Given the description of an element on the screen output the (x, y) to click on. 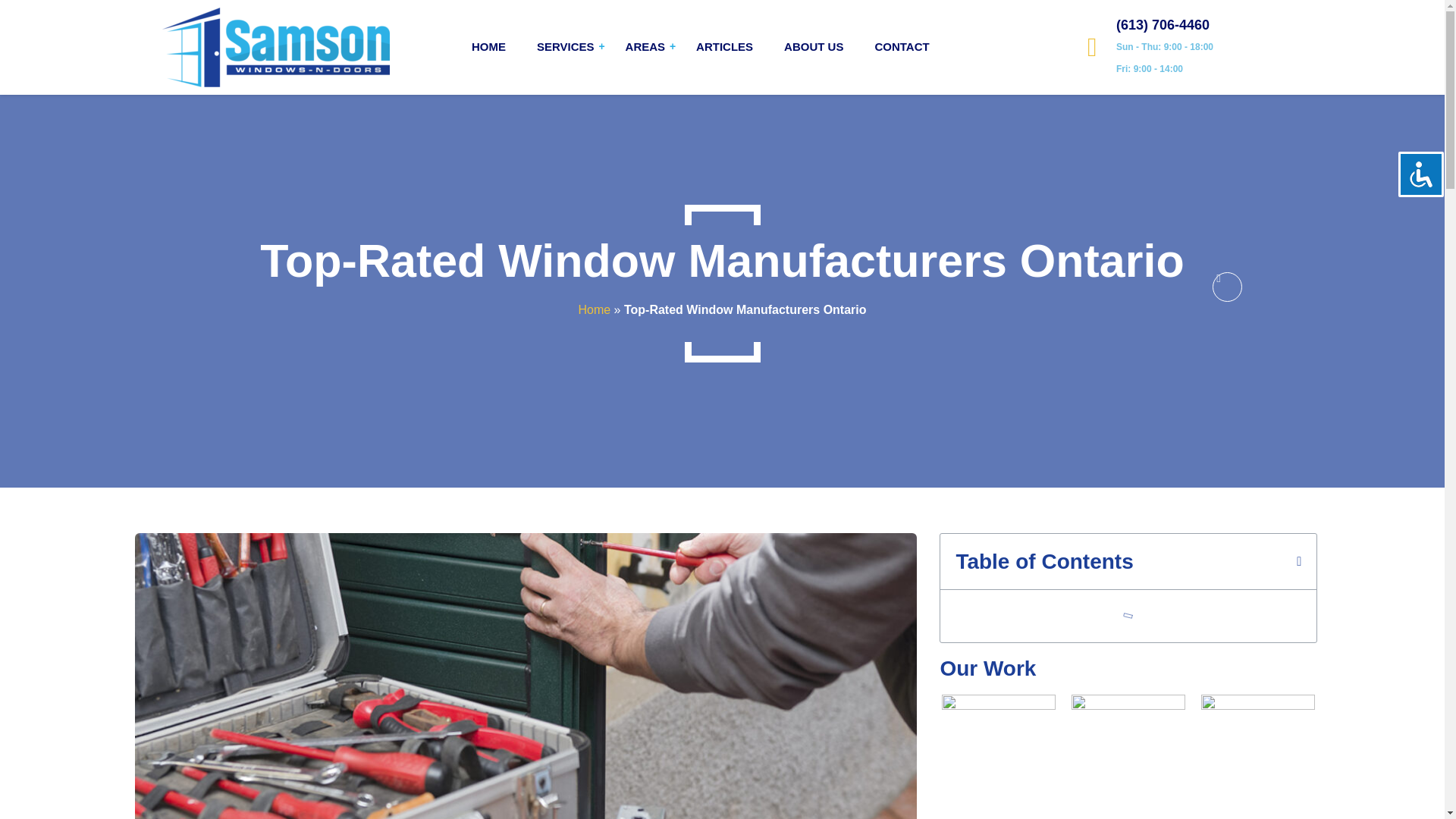
ABOUT US (812, 47)
AREAS (645, 47)
SERVICES (565, 47)
CONTACT (900, 47)
HOME (489, 47)
ARTICLES (724, 47)
